Given the description of an element on the screen output the (x, y) to click on. 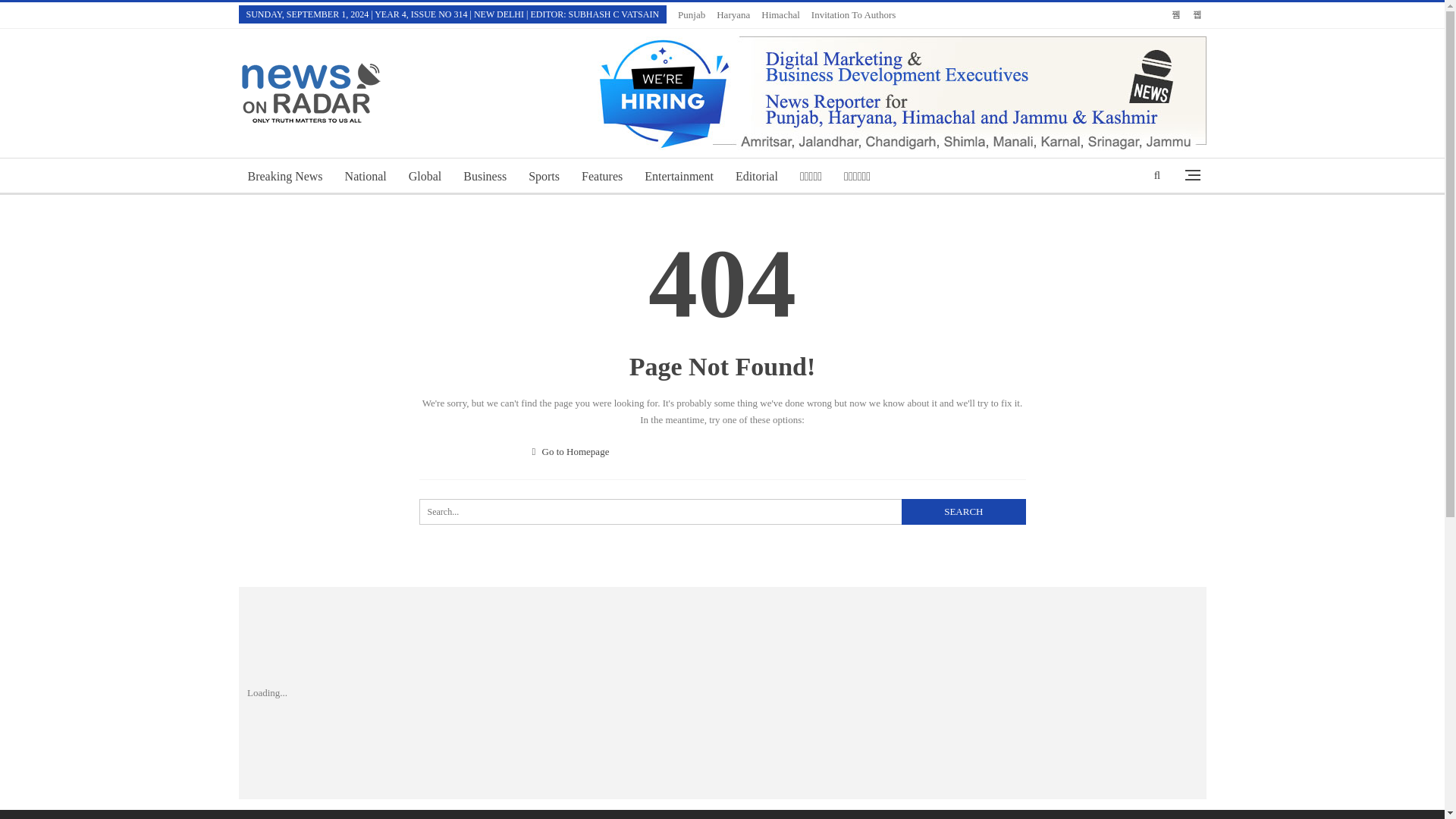
Invitation To Authors (853, 14)
Search (963, 511)
Global (424, 176)
Punjab (691, 14)
Haryana (732, 14)
Business (484, 176)
Sports (544, 176)
Features (601, 176)
Breaking News (284, 176)
Editorial (756, 176)
